Given the description of an element on the screen output the (x, y) to click on. 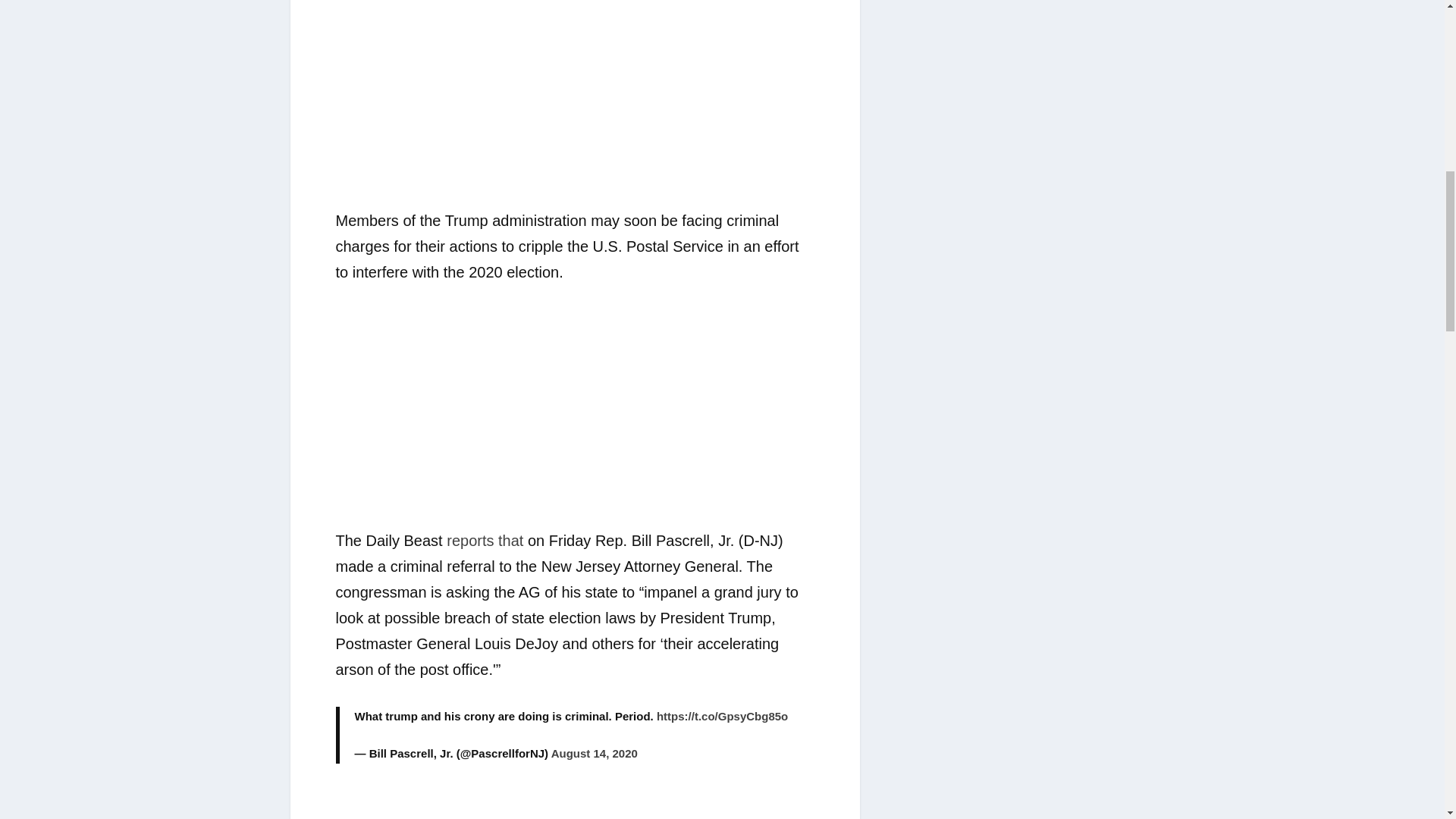
Advertisement (573, 415)
Advertisement (573, 100)
Advertisement (573, 803)
